Given the description of an element on the screen output the (x, y) to click on. 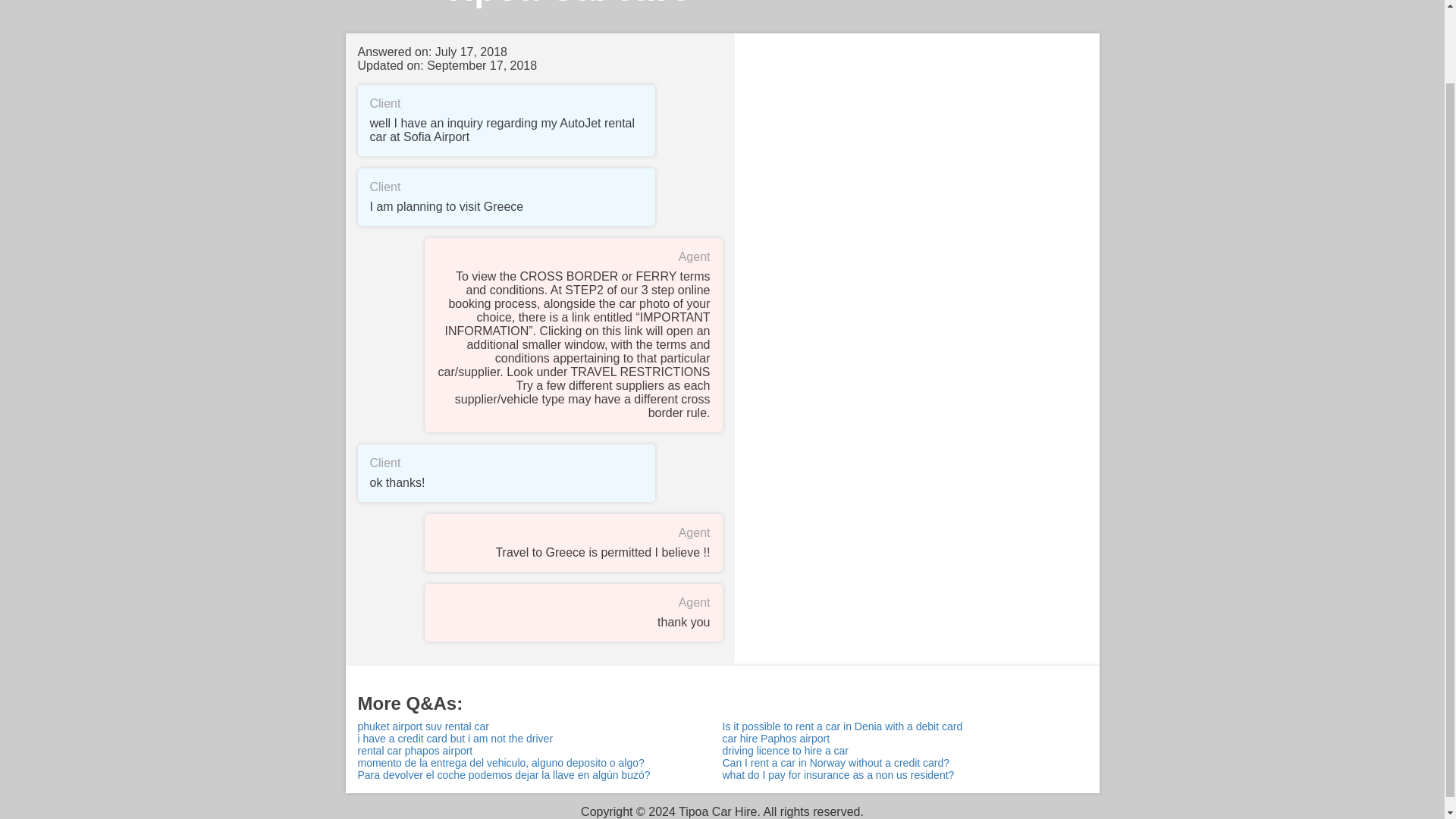
rental car phapos airport (540, 750)
momento de la entrega del vehiculo, alguno deposito o algo? (540, 762)
i have a credit card but i am not the driver (540, 738)
phuket airport suv rental car (540, 726)
